Given the description of an element on the screen output the (x, y) to click on. 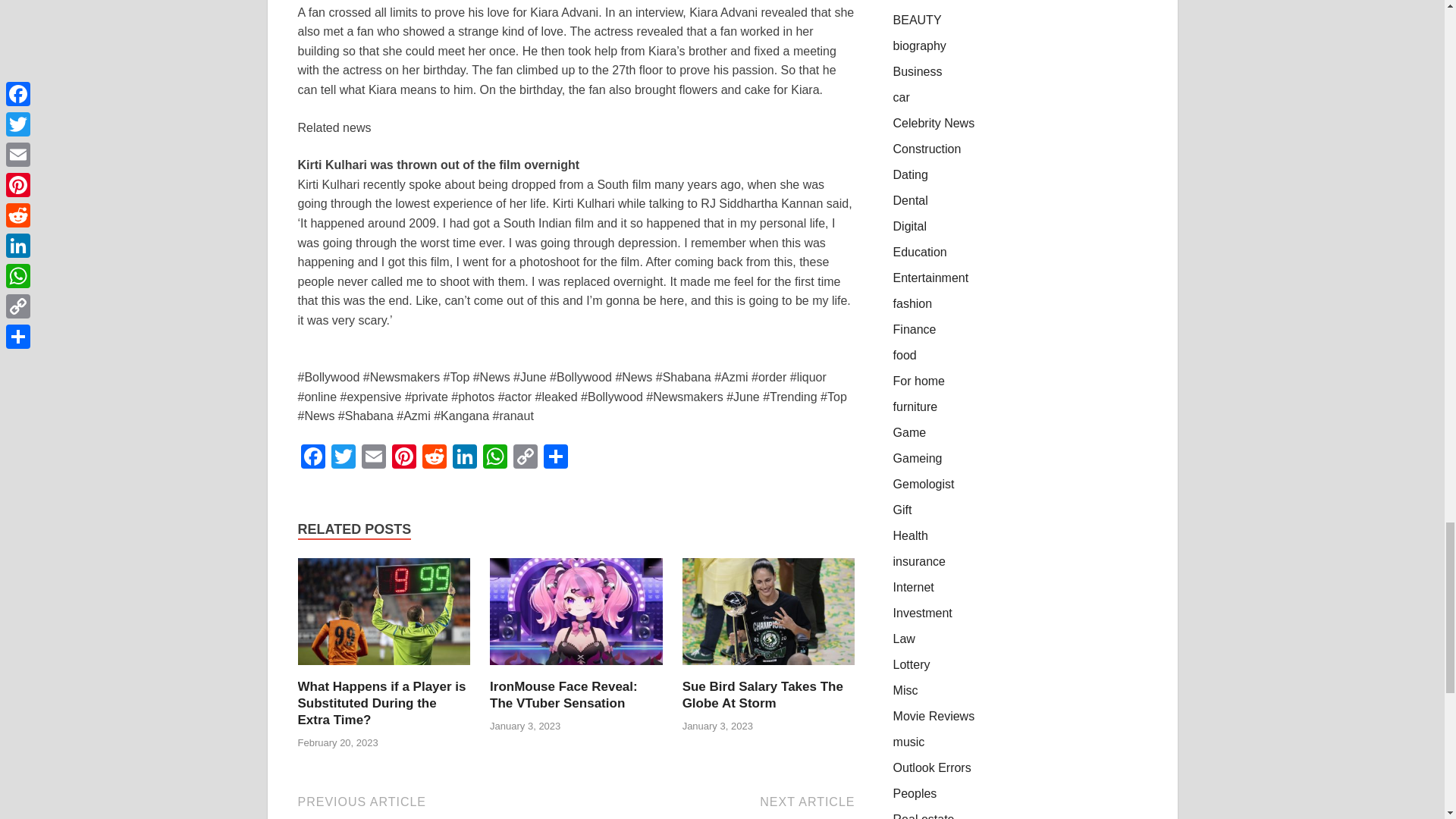
Facebook (312, 458)
WhatsApp (494, 458)
Email (373, 458)
Pinterest (403, 458)
Twitter (342, 458)
Reddit (433, 458)
Twitter (342, 458)
Facebook (312, 458)
Reddit (433, 458)
LinkedIn (463, 458)
Pinterest (403, 458)
Email (373, 458)
